Given the description of an element on the screen output the (x, y) to click on. 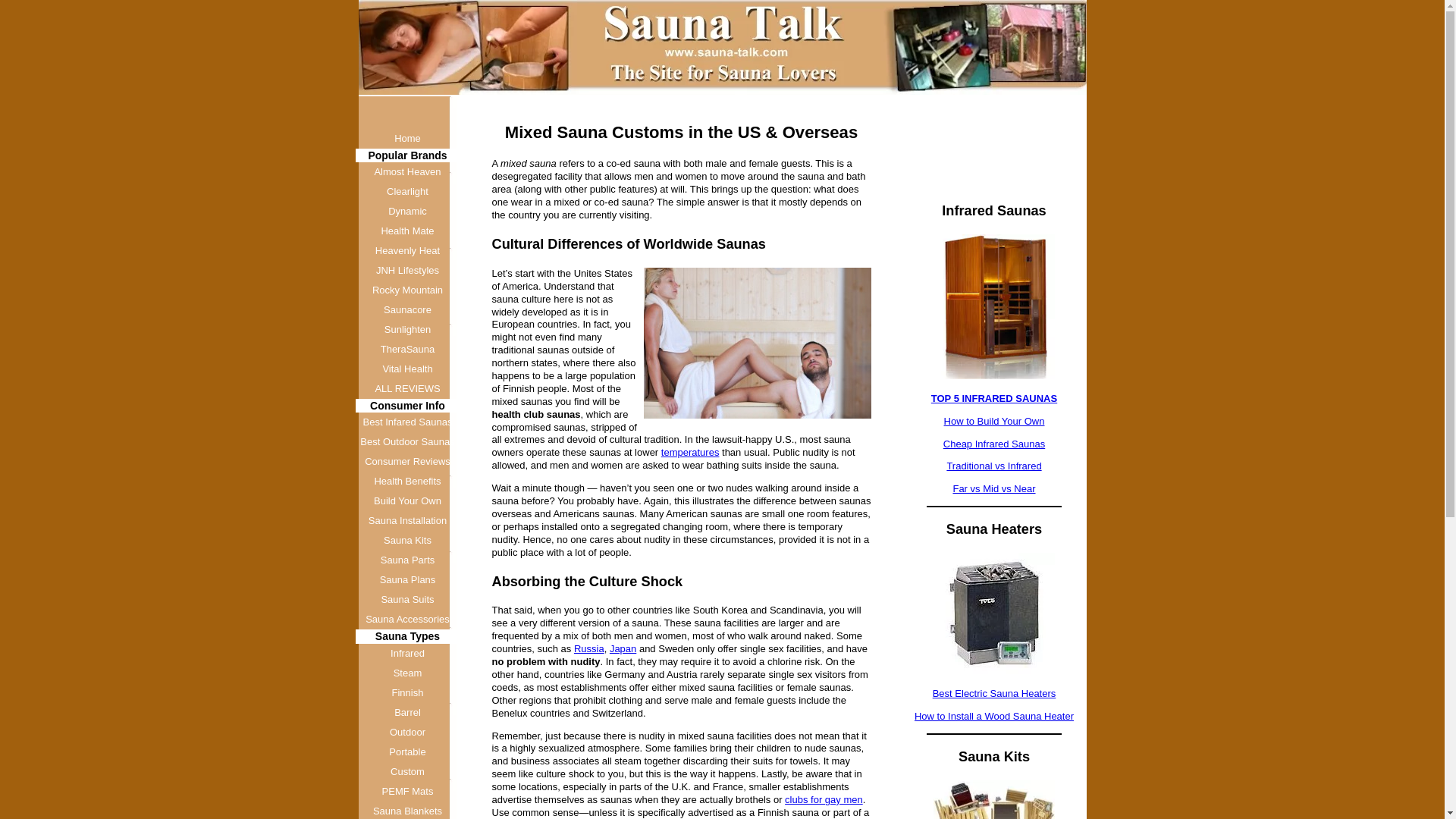
Outdoor (407, 732)
Sauna Heaters (993, 613)
Almost Heaven (407, 171)
Dynamic (407, 211)
Best Infared Saunas (407, 422)
JNH Lifestyles (407, 270)
Rocky Mountain (407, 290)
ALL REVIEWS (407, 388)
Infrared (407, 653)
Best Outdoor Saunas (407, 442)
